Given the description of an element on the screen output the (x, y) to click on. 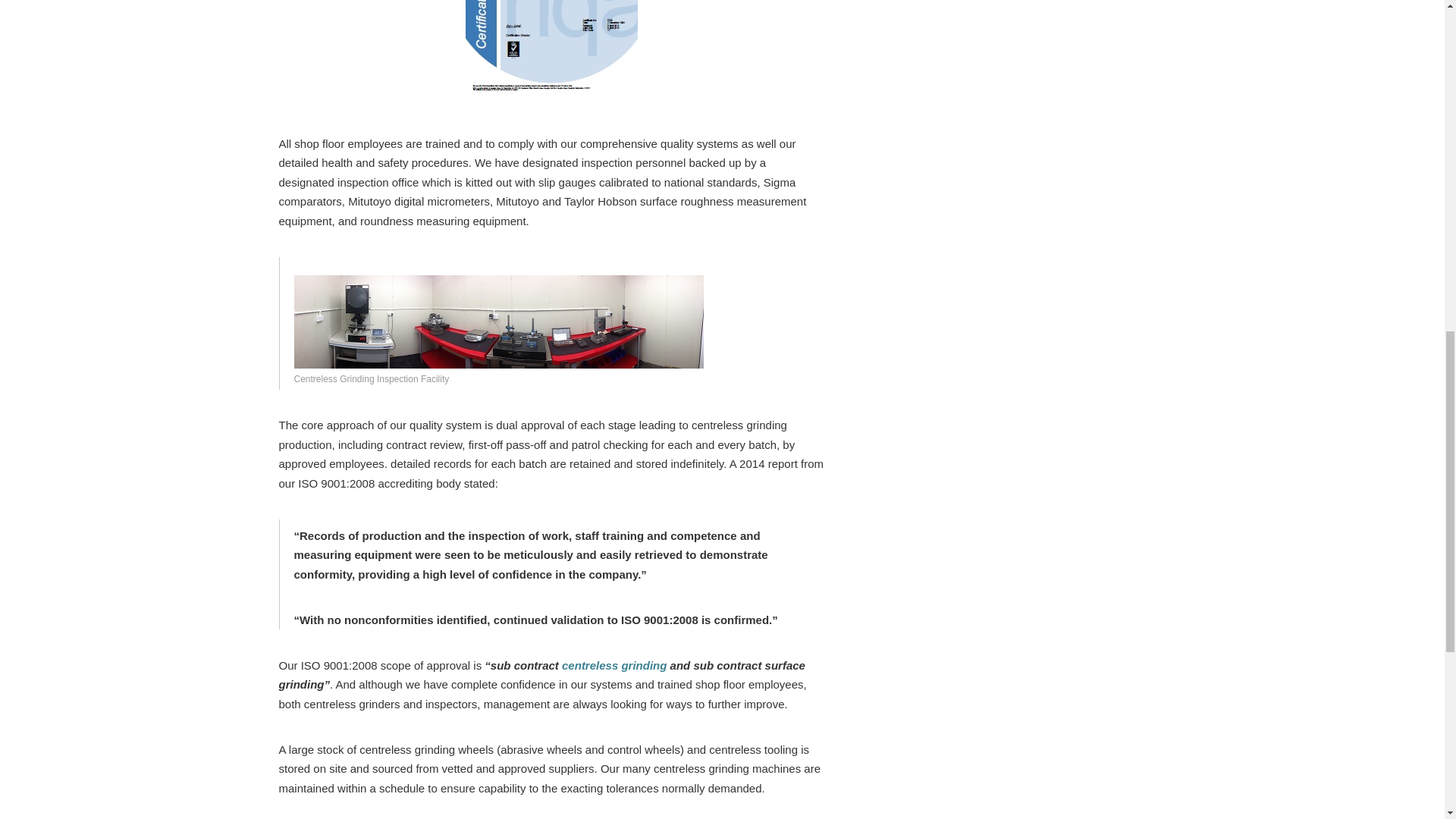
centreless grinding (614, 665)
Centreless Grinding (614, 665)
ISO 9001:2008 Certified Grinder (552, 53)
